Given the description of an element on the screen output the (x, y) to click on. 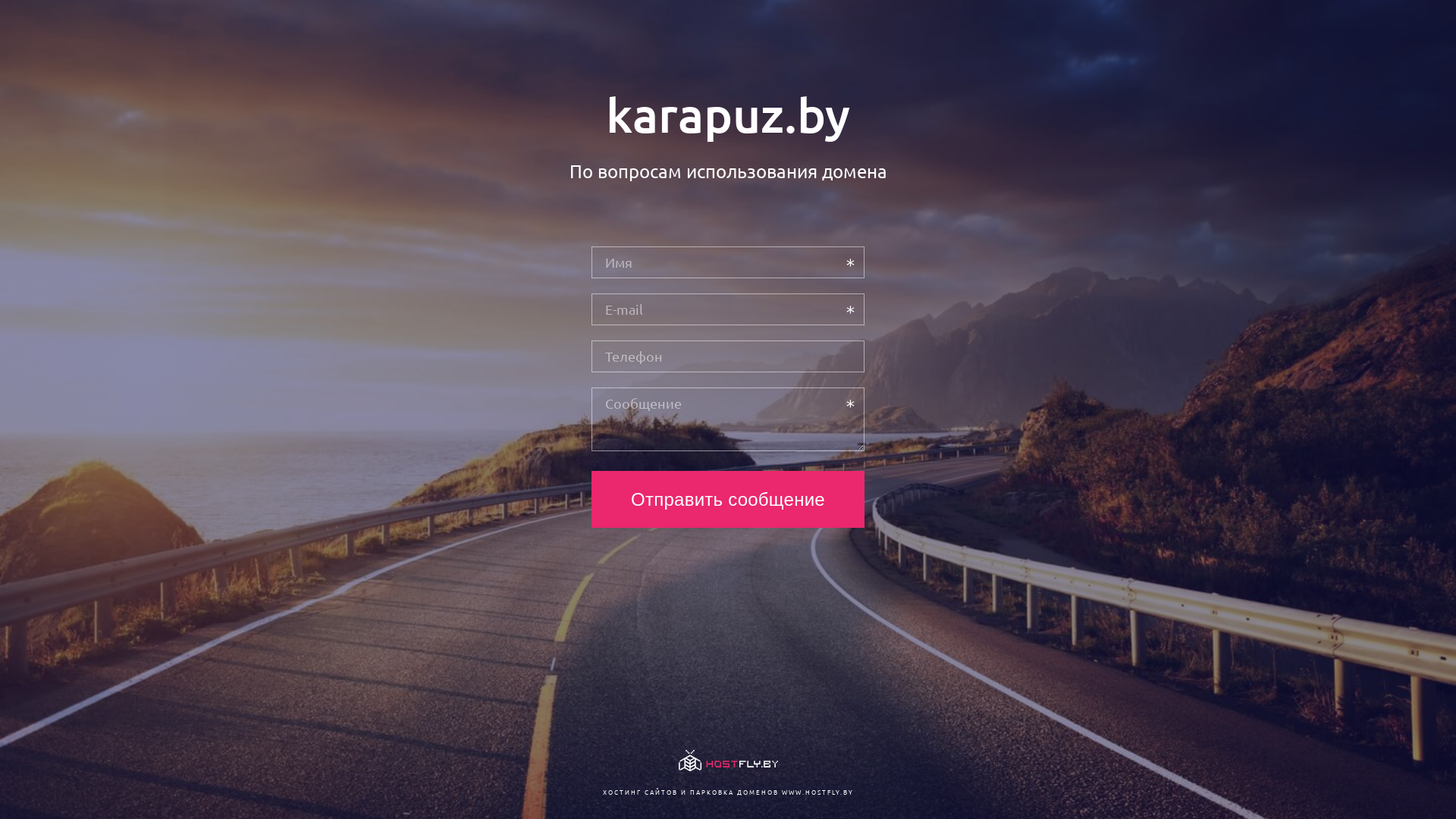
WWW.HOSTFLY.BY Element type: text (817, 791)
